Given the description of an element on the screen output the (x, y) to click on. 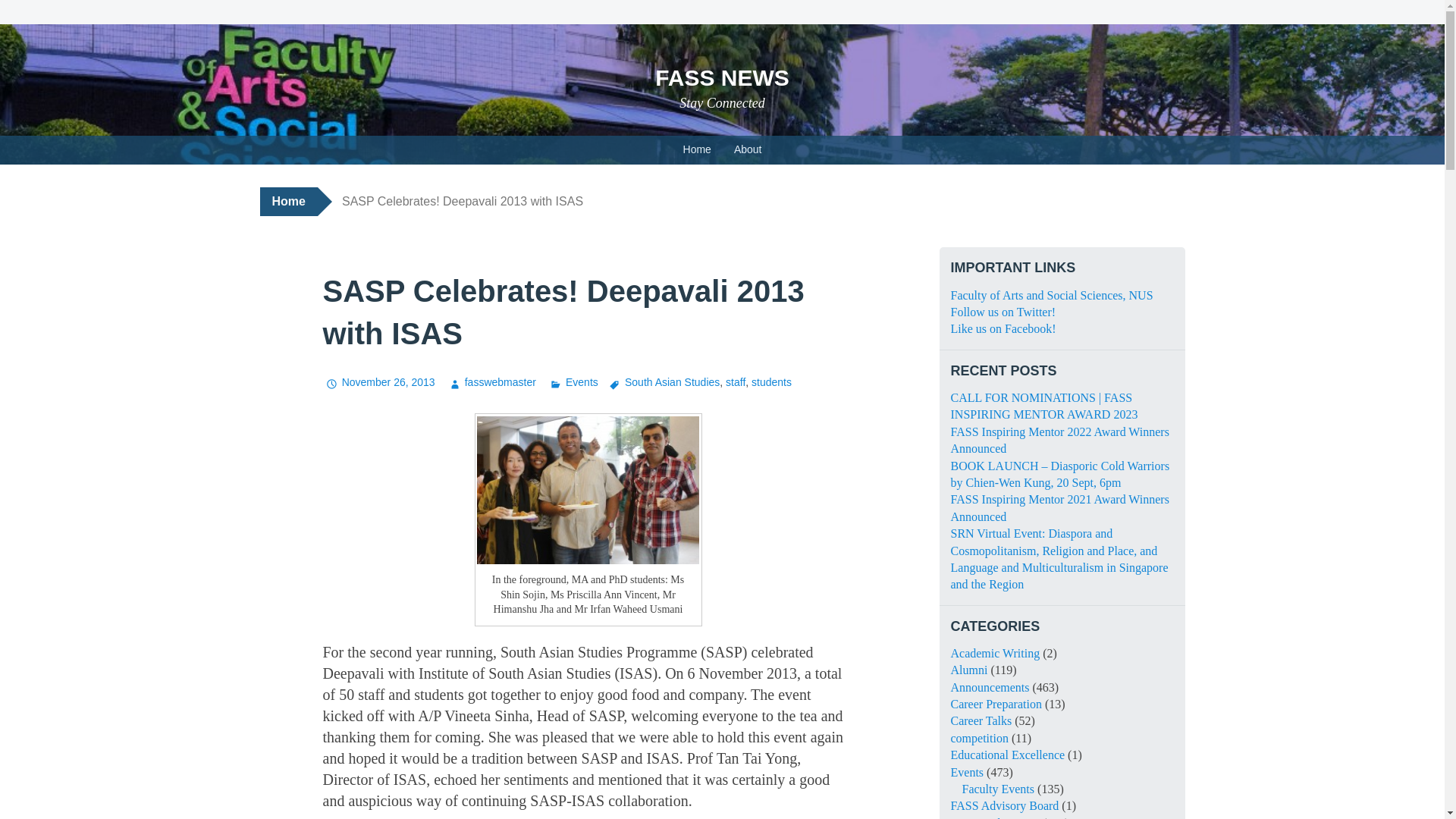
Follow us on Twitter! (1003, 311)
Academic Writing (995, 653)
Alumni (969, 669)
Events (572, 381)
Announcements (989, 686)
FASS Advisory Board (1004, 805)
FASS NEWS (722, 77)
Faculty of Arts and Social Sciences, NUS (1051, 295)
November 26, 2013 (379, 381)
FASS in the News (995, 817)
